Given the description of an element on the screen output the (x, y) to click on. 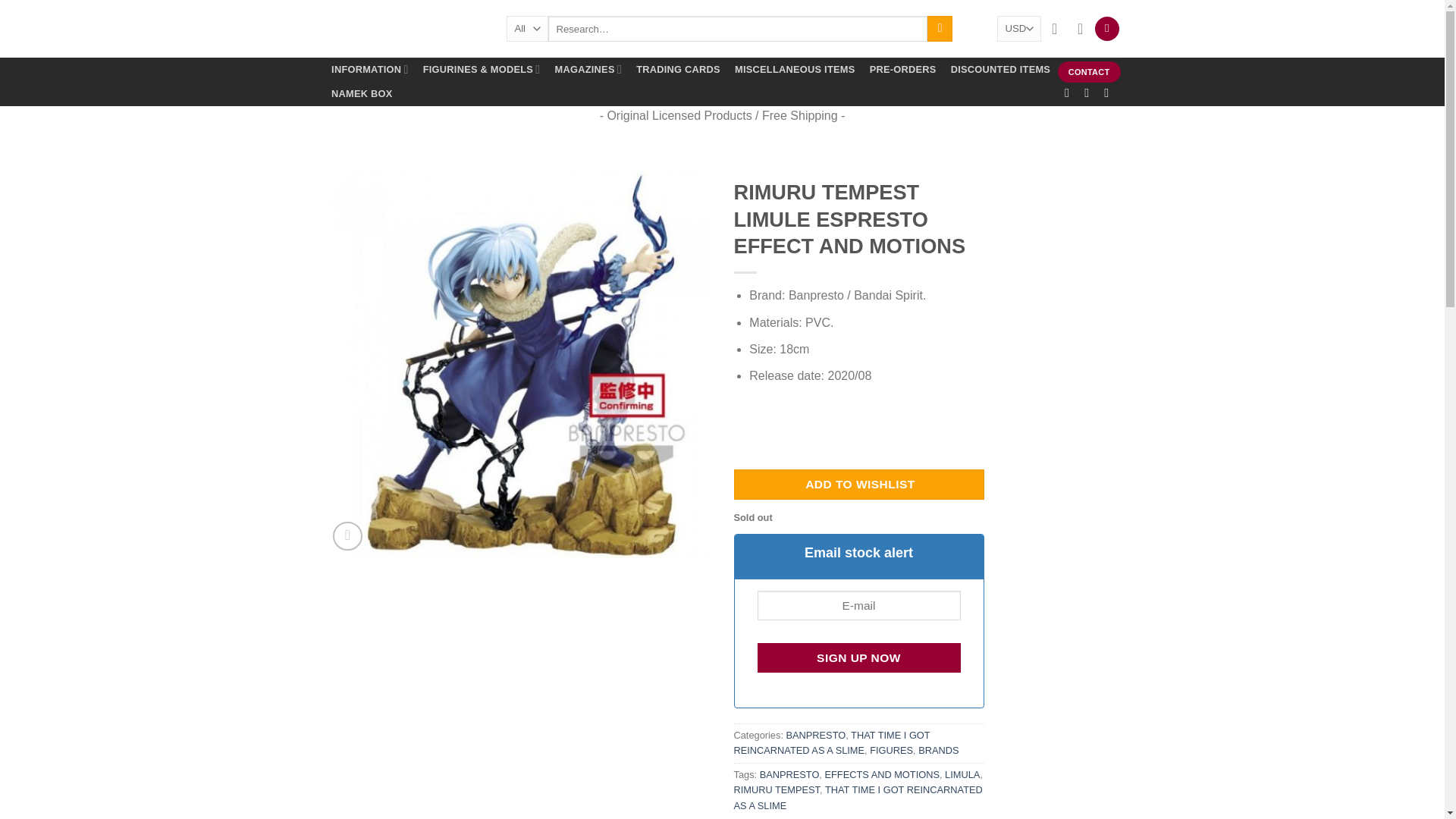
ADD TO WISHLIST (858, 484)
Follow us on Instagram (1090, 92)
NAMEK BOX (362, 93)
CONTACT (1089, 71)
PRE-ORDERS (902, 69)
Sign up now (858, 657)
NamekToys (403, 28)
Recherche (939, 28)
Sign up now (858, 657)
Follow us on Twitter (1109, 92)
INFORMATION (370, 69)
DISCOUNTED ITEMS (1000, 69)
TRADING CARDS (678, 69)
MISCELLANEOUS ITEMS (793, 69)
MAGAZINES (587, 69)
